Given the description of an element on the screen output the (x, y) to click on. 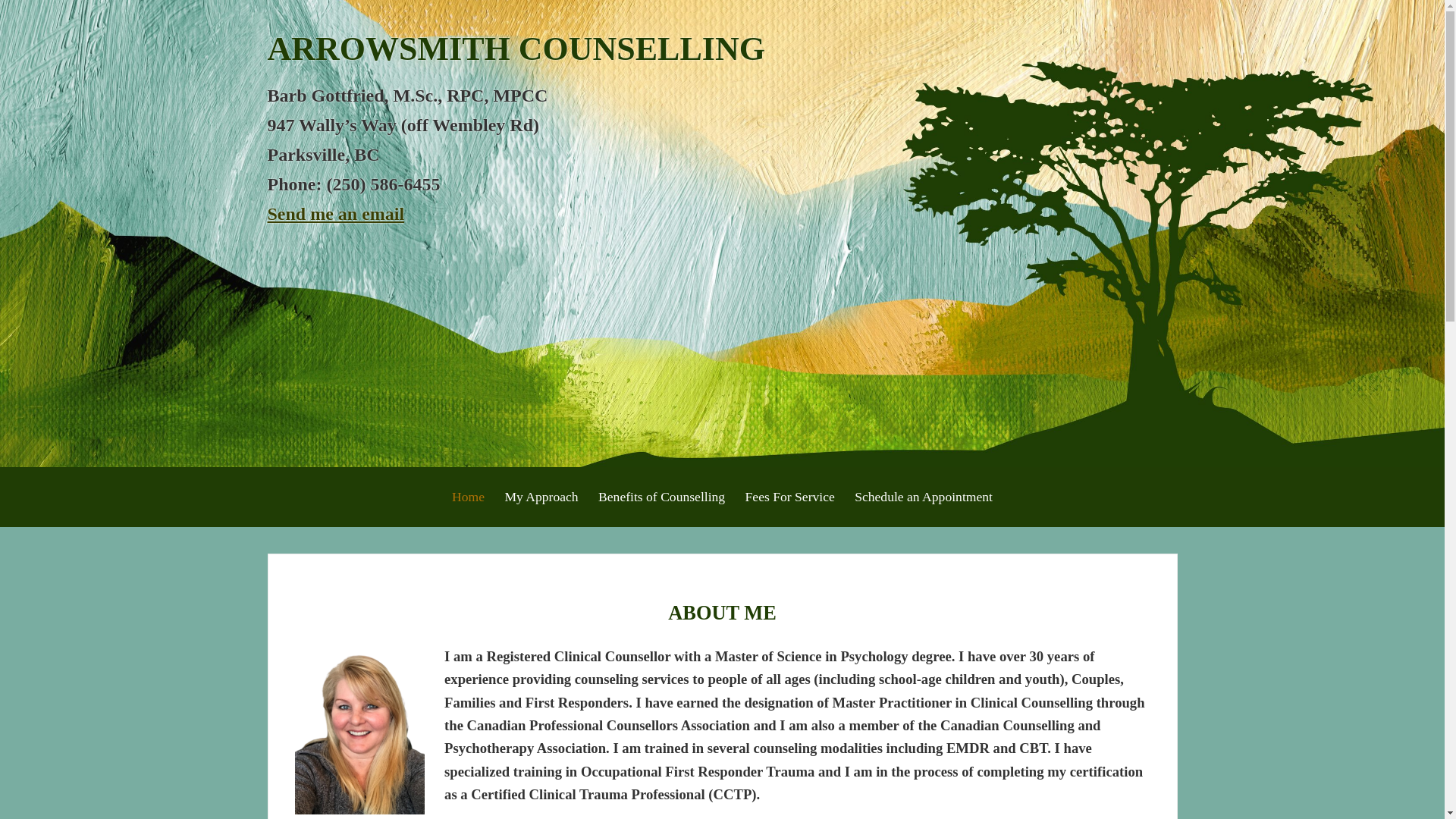
Schedule an Appointment Element type: text (923, 497)
My Approach Element type: text (540, 497)
Home Element type: text (467, 497)
Fees For Service Element type: text (789, 497)
Benefits of Counselling Element type: text (661, 497)
Send me an email Element type: text (335, 213)
